Given the description of an element on the screen output the (x, y) to click on. 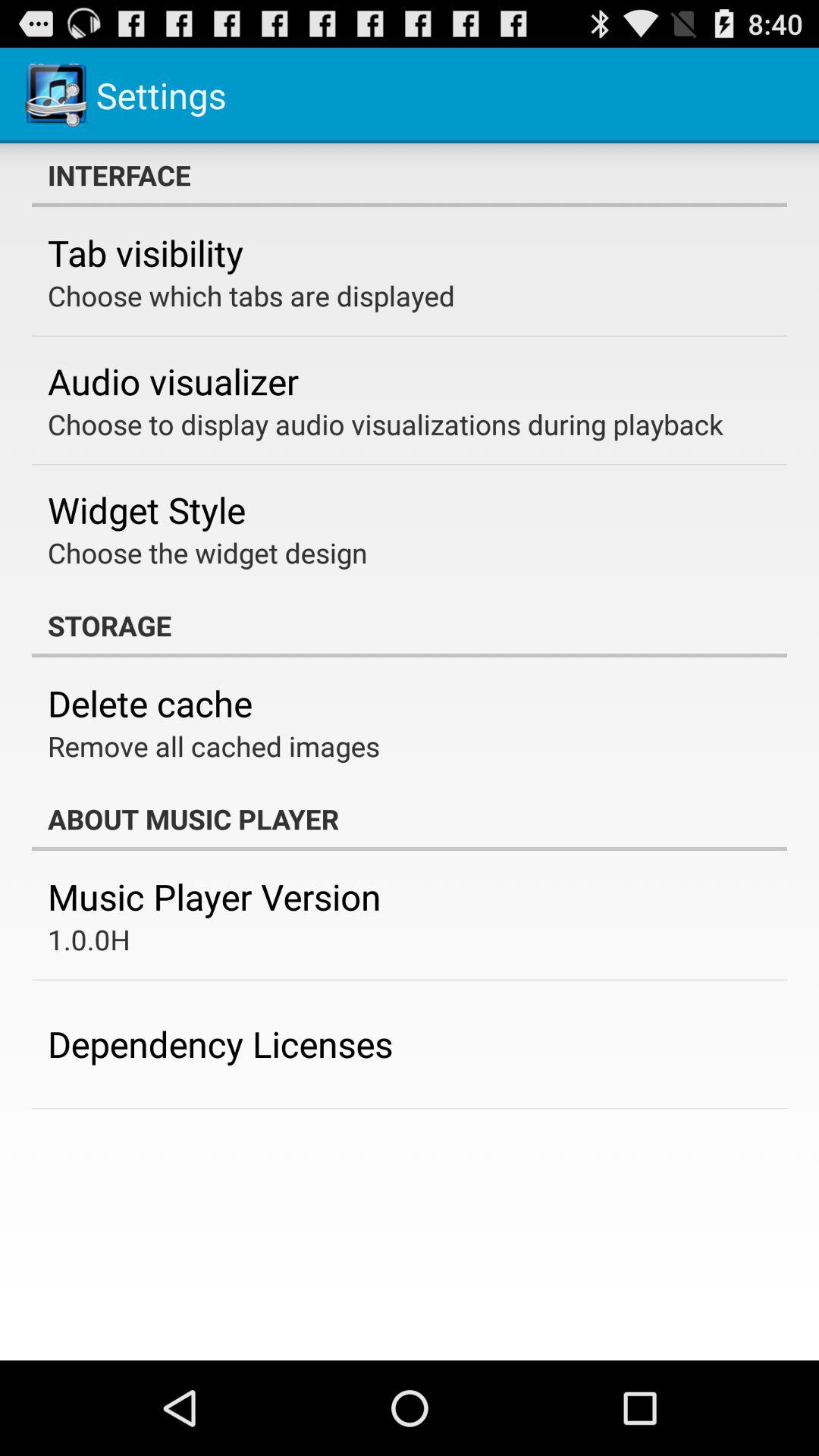
select tab visibility icon (145, 252)
